Given the description of an element on the screen output the (x, y) to click on. 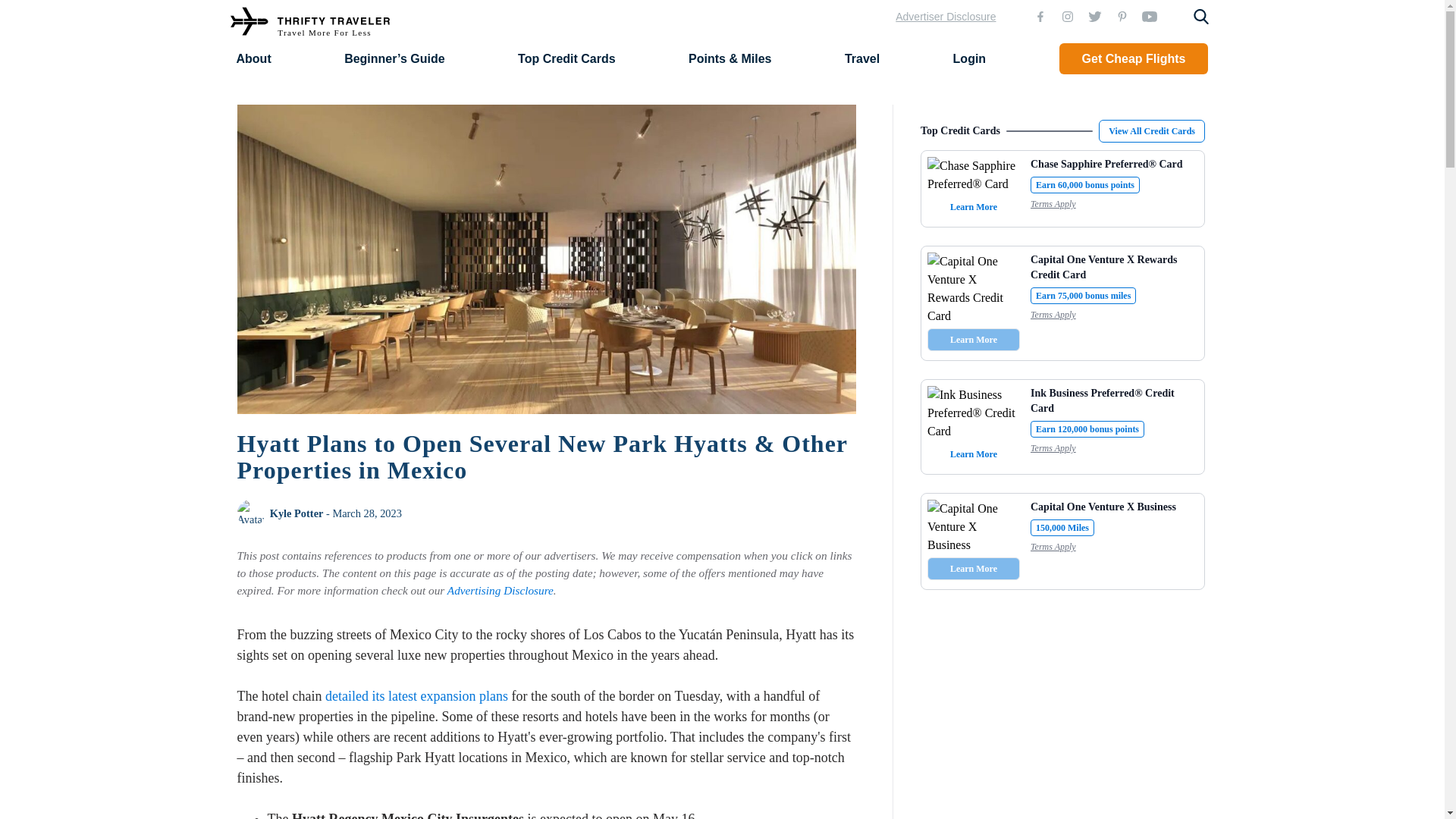
TT Logo - link to thrifty traveler home page (310, 23)
About (252, 58)
Travel (861, 58)
Gravatar for Kyle Potter (249, 513)
Search button: search thrifty traveler website (1200, 16)
Advertiser Disclosure (945, 16)
Top Credit Cards (566, 58)
